Given the description of an element on the screen output the (x, y) to click on. 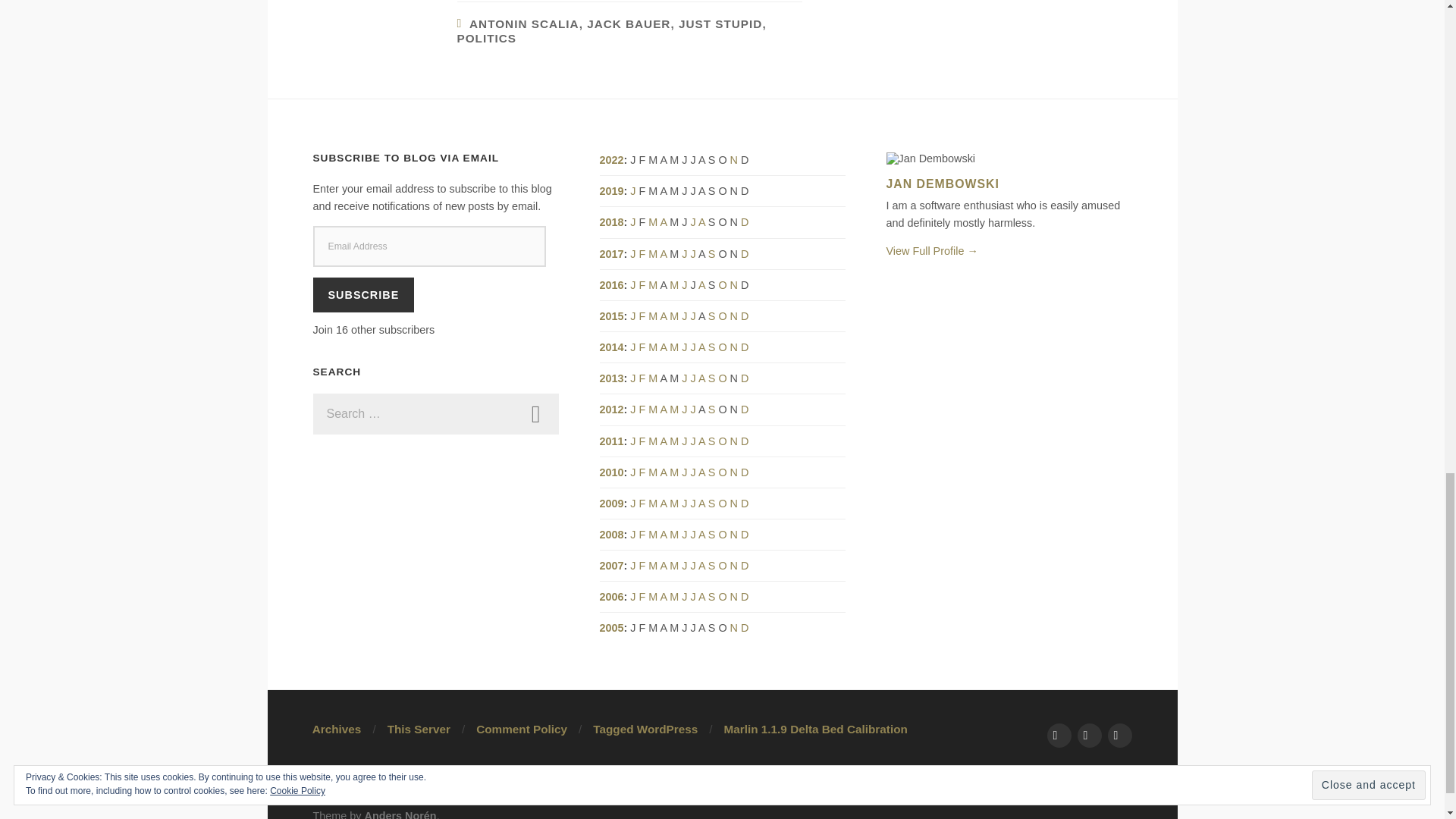
SUBSCRIBE (363, 294)
ANTONIN SCALIA (523, 23)
POLITICS (486, 38)
Search (534, 413)
JUST STUPID (719, 23)
Search (534, 413)
JACK BAUER (627, 23)
